Given the description of an element on the screen output the (x, y) to click on. 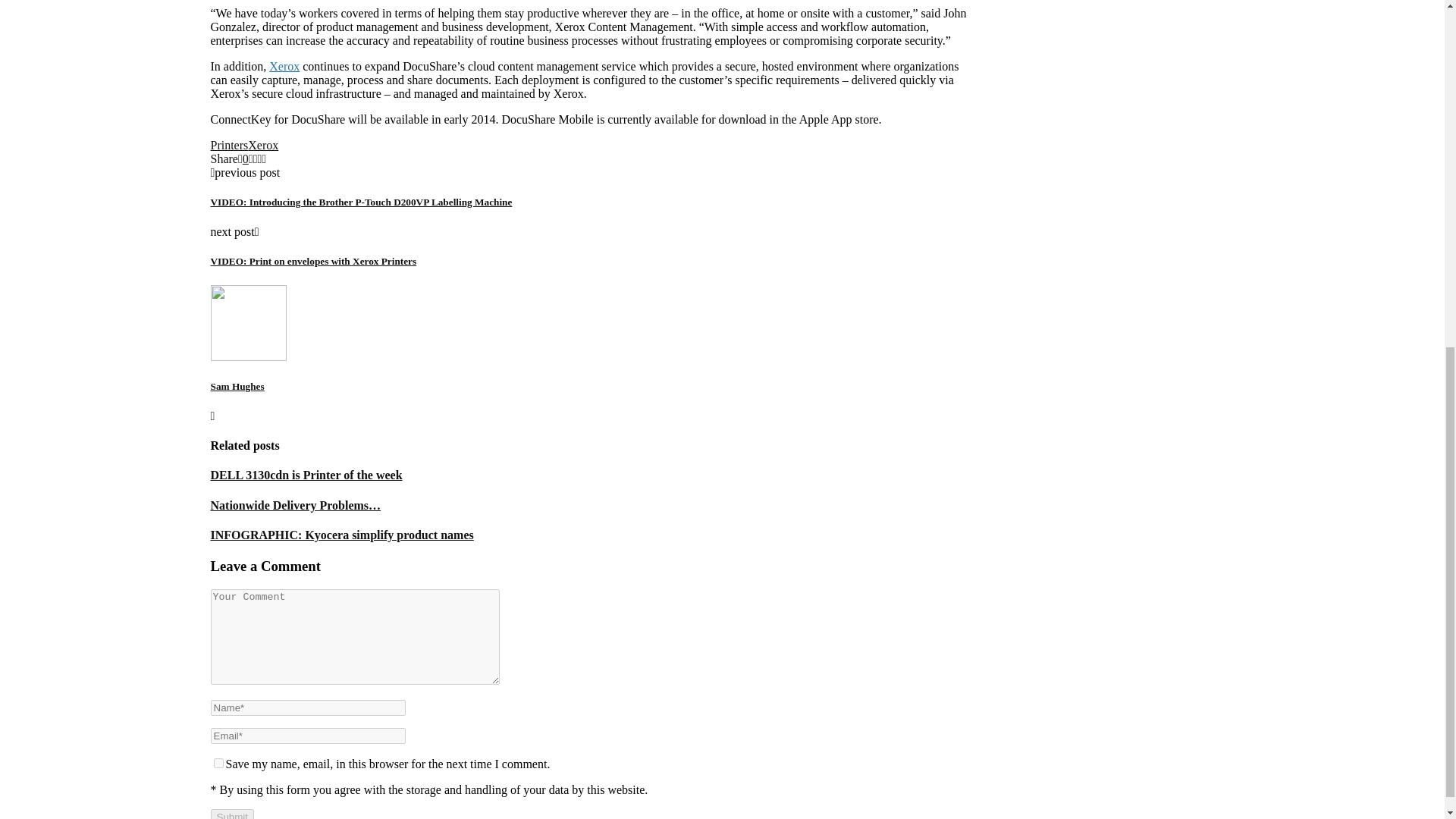
Xerox (284, 65)
Sam Hughes (237, 386)
Xerox (262, 144)
Printers (229, 144)
Like (243, 158)
INFOGRAPHIC: Kyocera simplify product names (342, 534)
VIDEO: Print on envelopes with Xerox Printers (313, 260)
yes (219, 763)
DELL 3130cdn is Printer of the week (307, 474)
0 (243, 158)
Posts by Sam Hughes (237, 386)
